Given the description of an element on the screen output the (x, y) to click on. 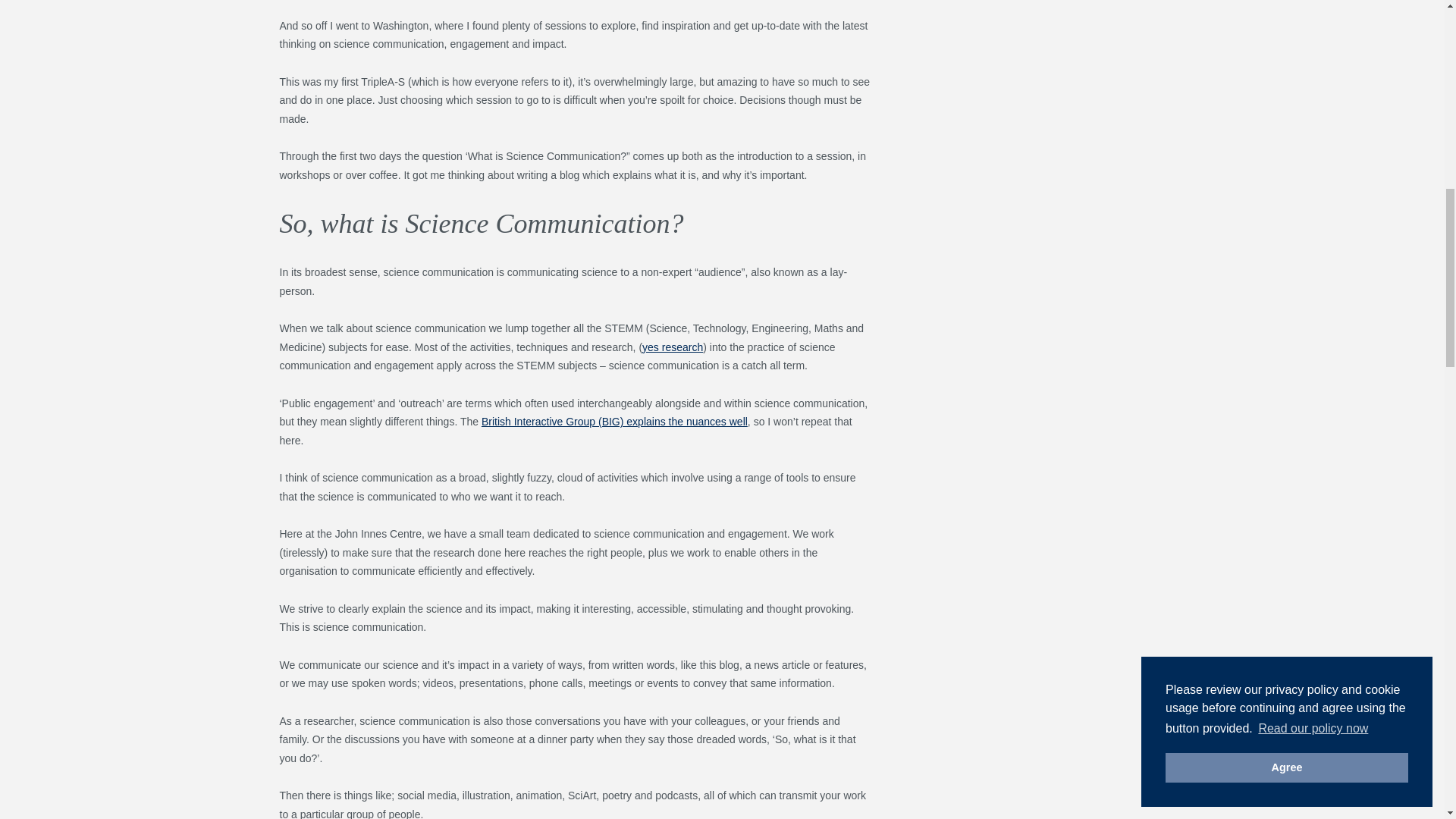
yes research (672, 346)
